Given the description of an element on the screen output the (x, y) to click on. 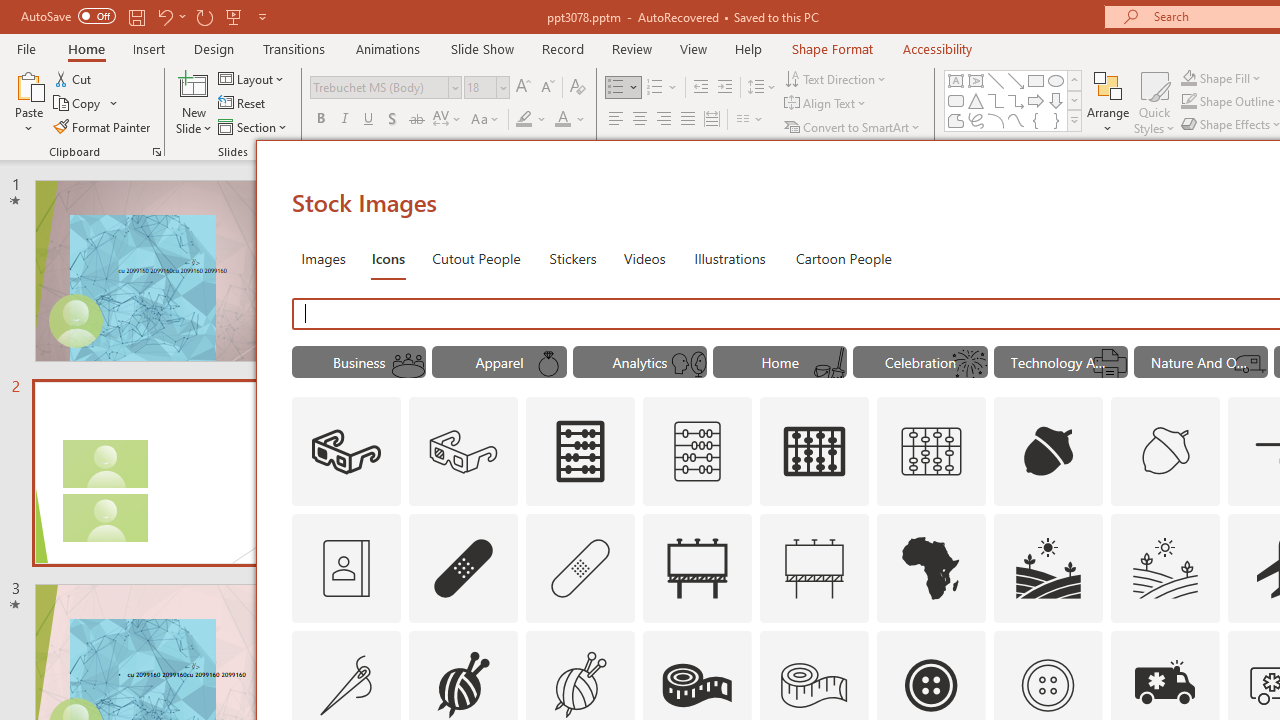
"Nature And Outdoors" Icons. (1201, 362)
AutomationID: Icons_3dGlasses_M (463, 452)
Icons (388, 258)
AutomationID: Icons_Abacus1 (815, 452)
AutomationID: Icons_Advertising_M (815, 568)
Italic (344, 119)
